Given the description of an element on the screen output the (x, y) to click on. 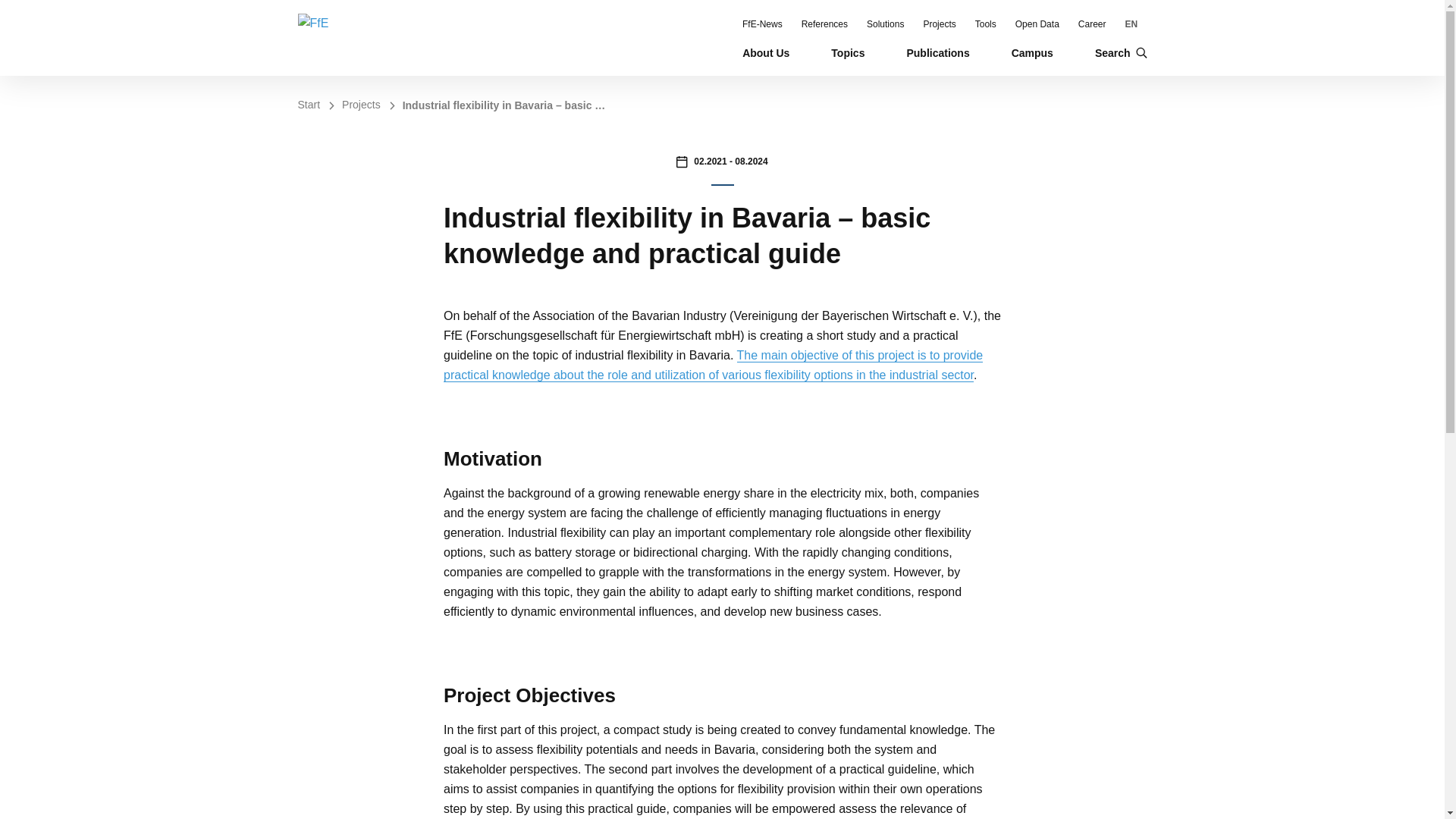
Search (1120, 52)
Publications (937, 52)
Projects (939, 24)
FfE-News (762, 24)
Solutions (885, 24)
Tools (985, 24)
Open Data (1036, 24)
Career (1092, 24)
About Us (765, 52)
Topics (847, 52)
